Given the description of an element on the screen output the (x, y) to click on. 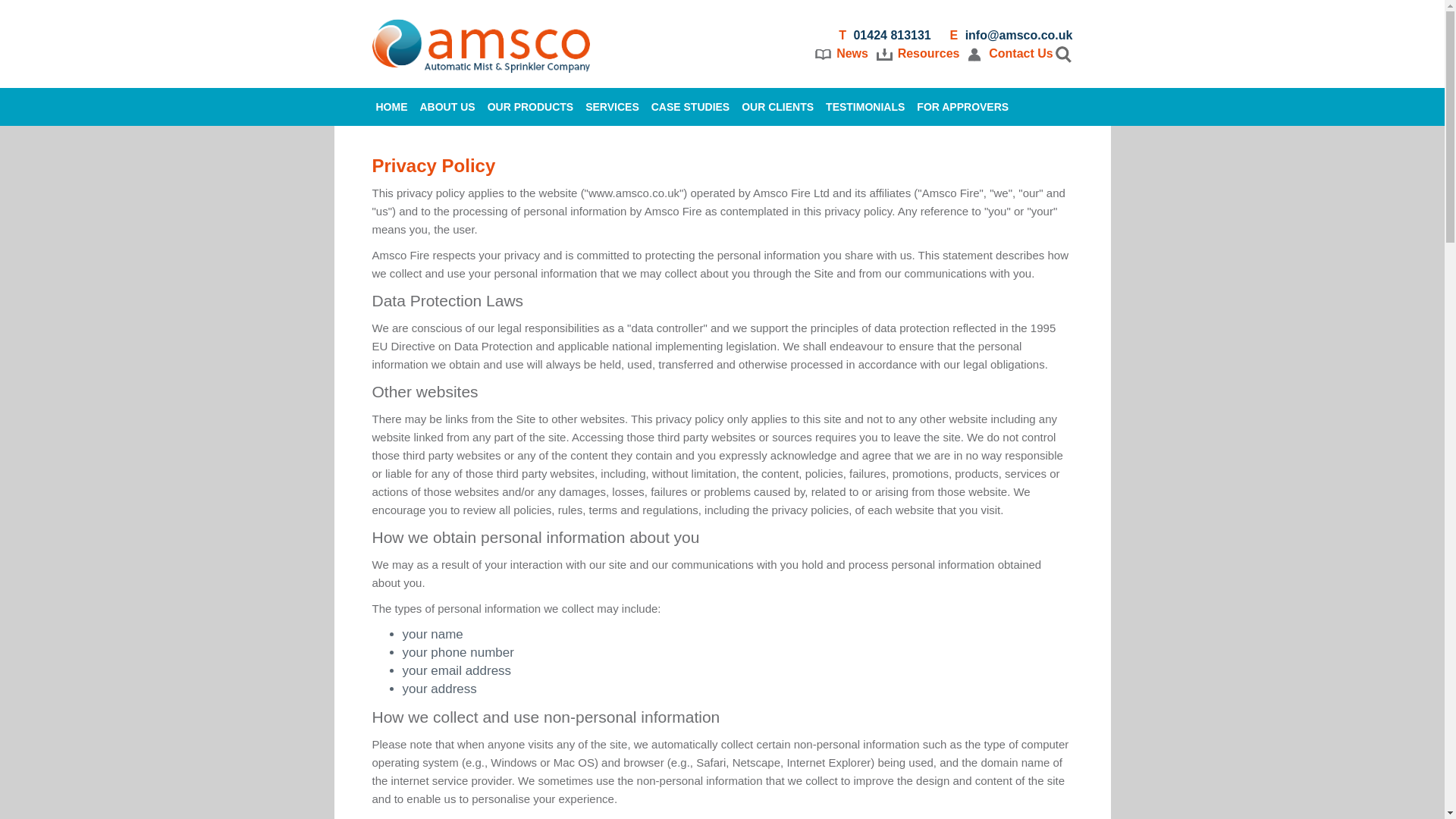
SERVICES (612, 106)
OUR CLIENTS (777, 106)
TESTIMONIALS (865, 106)
01424 813131 (891, 34)
Contact Us (1020, 52)
CASE STUDIES (690, 106)
Resources (928, 52)
HOME (391, 106)
News (851, 52)
FOR APPROVERS (962, 106)
OUR PRODUCTS (530, 106)
ABOUT US (447, 106)
